Given the description of an element on the screen output the (x, y) to click on. 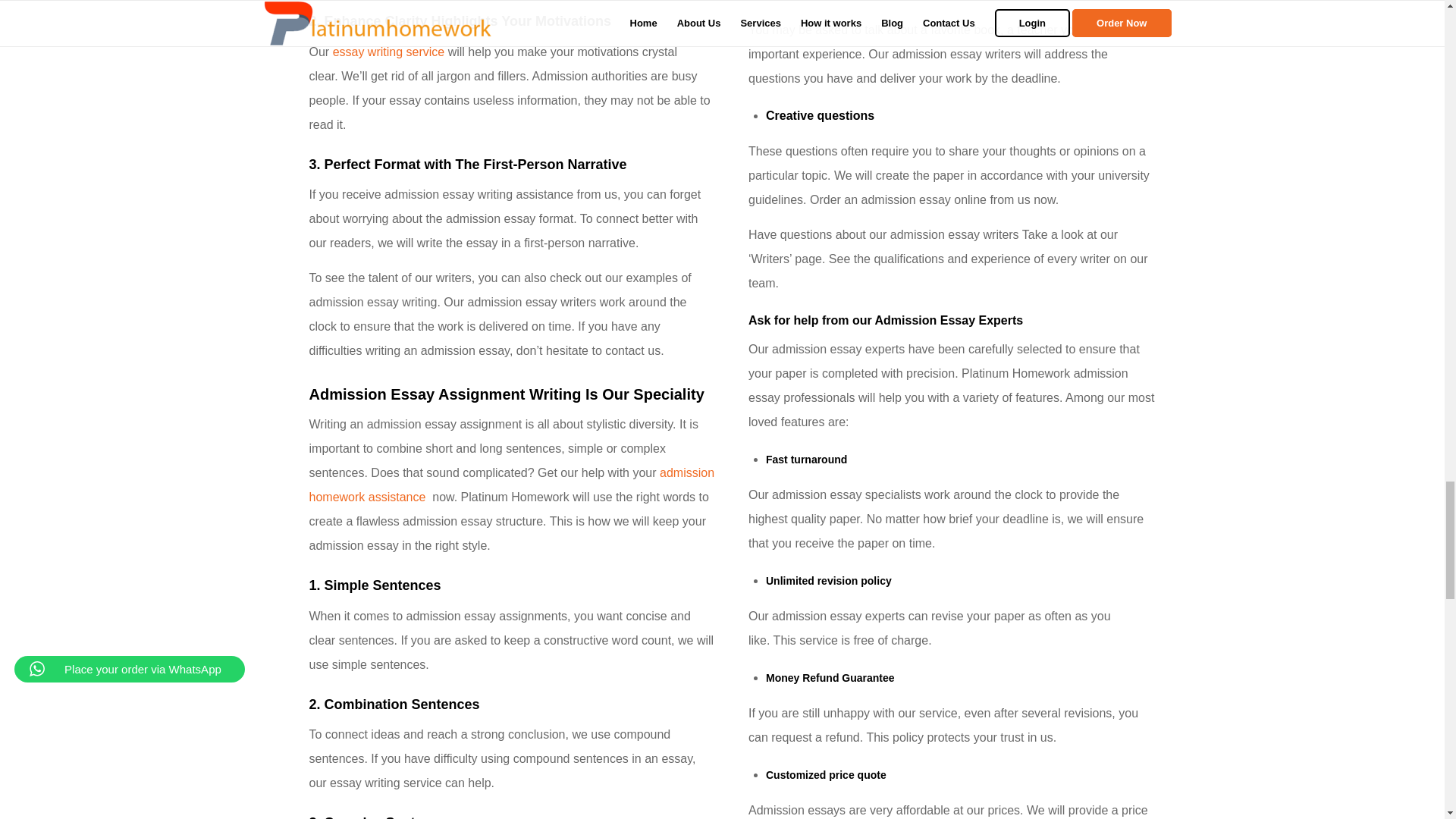
essay writing service (389, 51)
admission homework assistance  (511, 484)
